Given the description of an element on the screen output the (x, y) to click on. 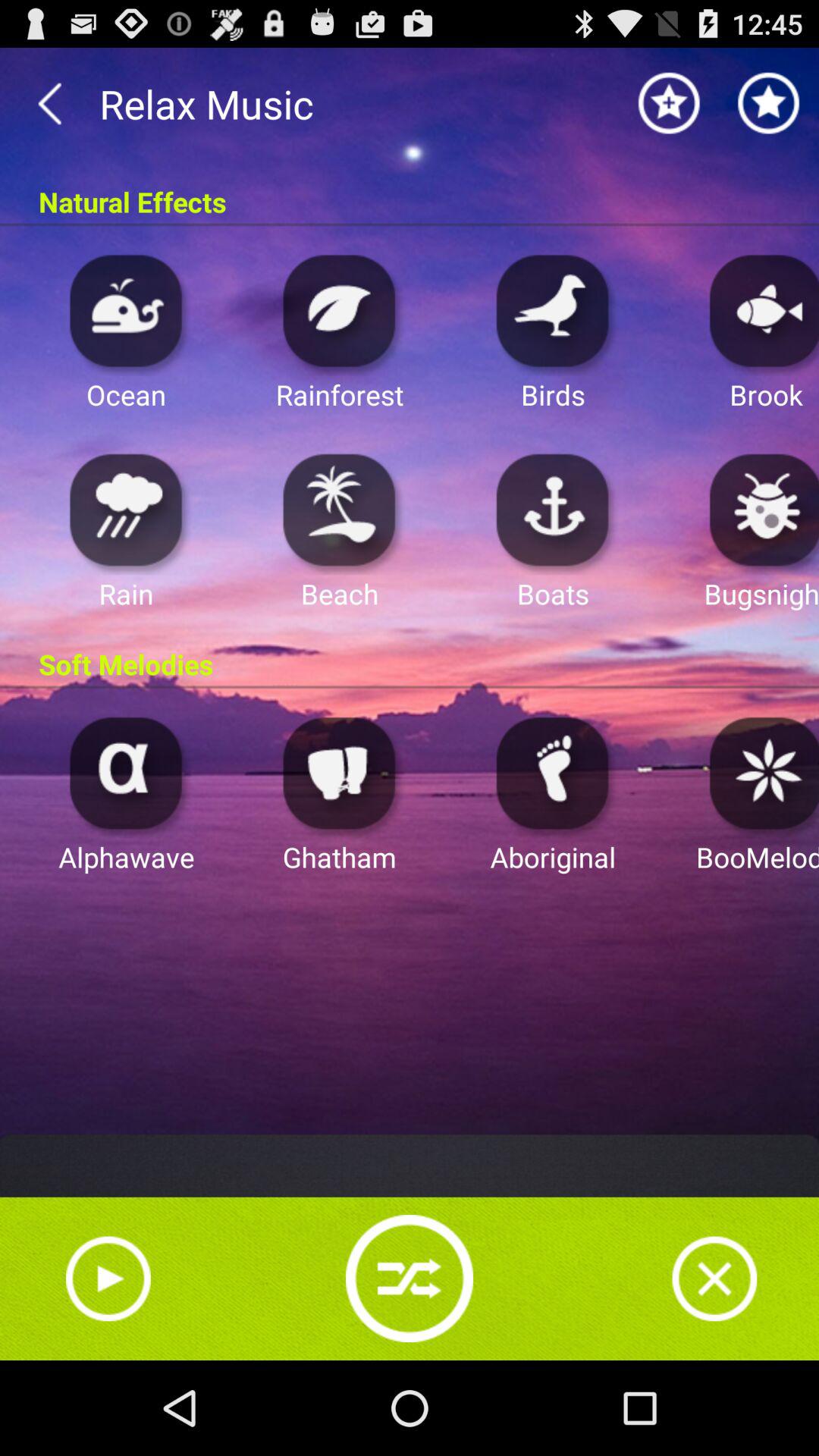
stop (714, 1278)
